Given the description of an element on the screen output the (x, y) to click on. 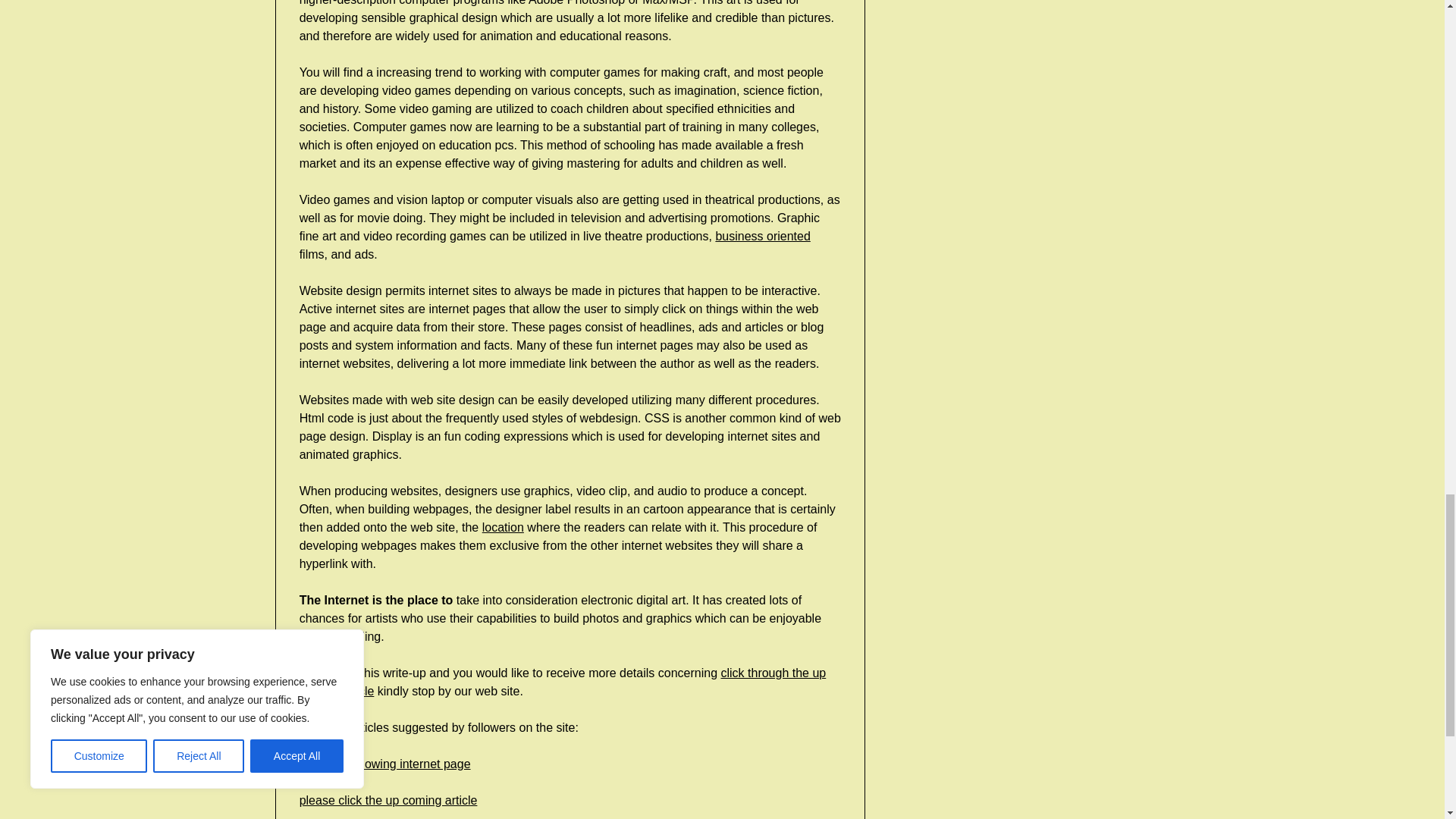
please click the up coming article (388, 799)
click through the up coming article (563, 681)
Click the following internet page (384, 763)
location (502, 526)
business oriented (761, 236)
